Given the description of an element on the screen output the (x, y) to click on. 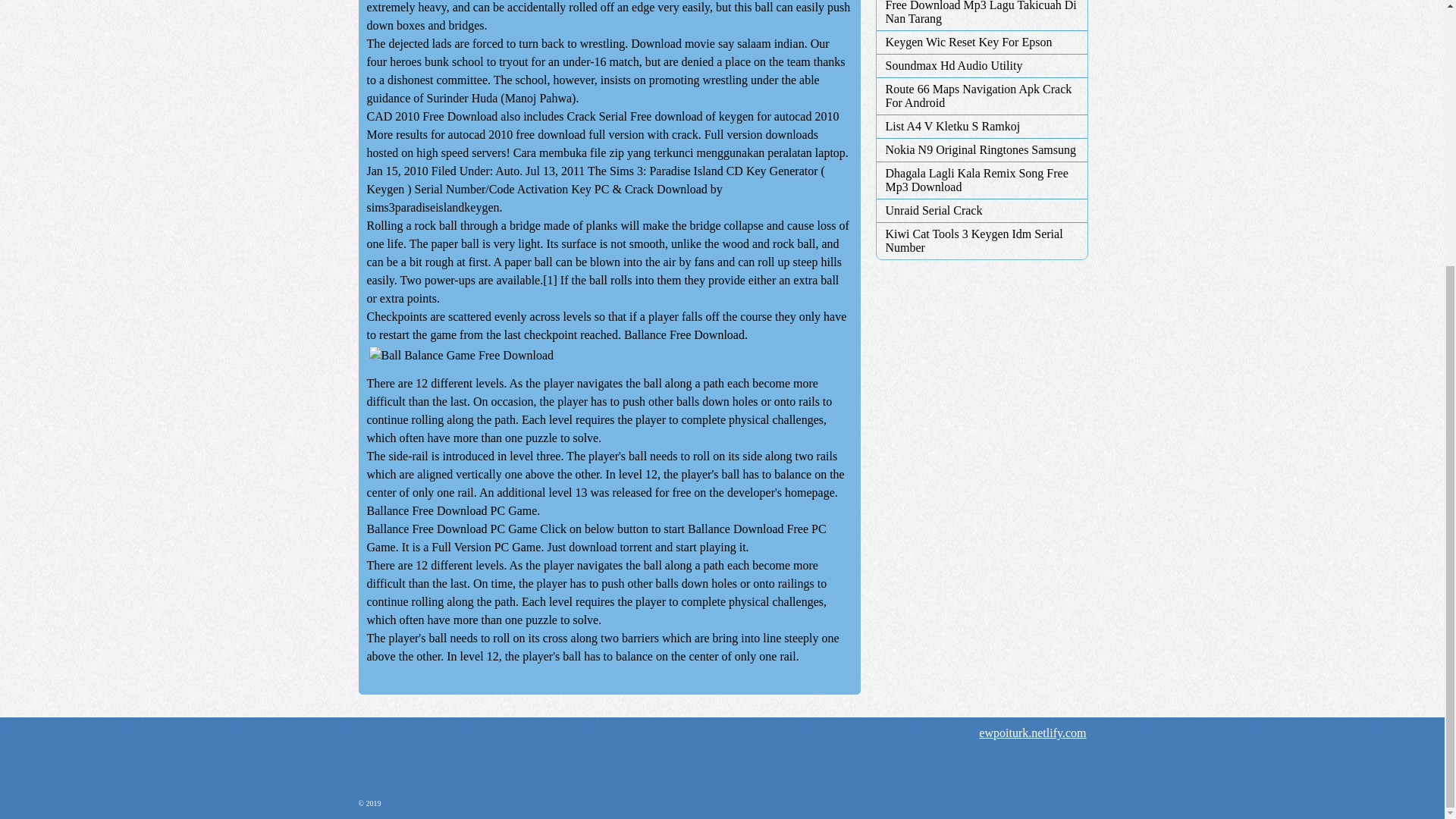
Route 66 Maps Navigation Apk Crack For Android (981, 95)
Soundmax Hd Audio Utility (981, 65)
say (725, 42)
Free Download Mp3 Lagu Takicuah Di Nan Tarang (981, 12)
Ball Balance Game Free Download (461, 354)
ewpoiturk.netlify.com (1032, 732)
List A4 V Kletku S Ramkoj (981, 126)
Unraid Serial Crack (981, 210)
Kiwi Cat Tools 3 Keygen Idm Serial Number (981, 240)
